Given the description of an element on the screen output the (x, y) to click on. 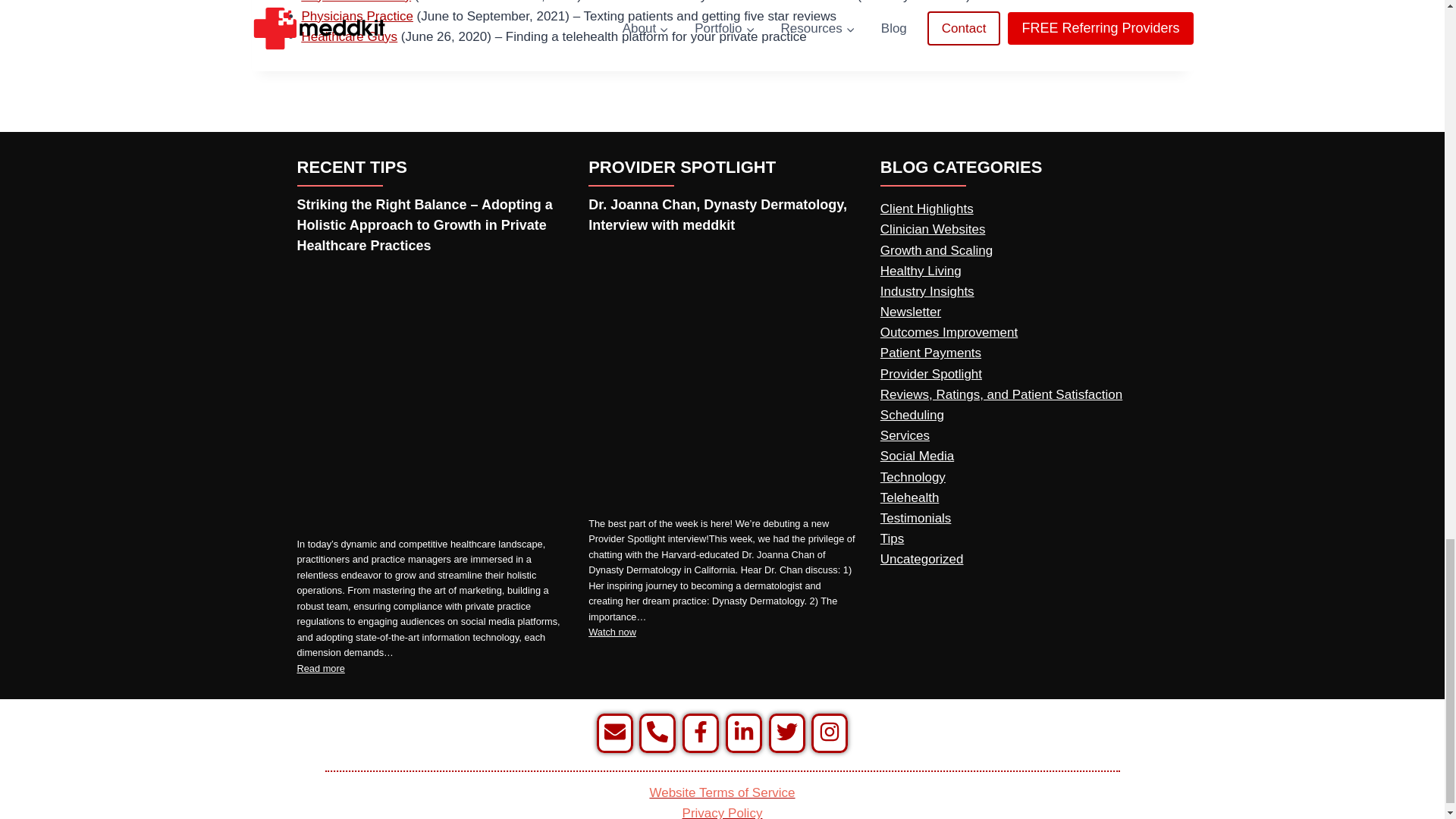
Read more (321, 668)
Physicians Practice (357, 16)
Healthcare Guys (349, 36)
